Given the description of an element on the screen output the (x, y) to click on. 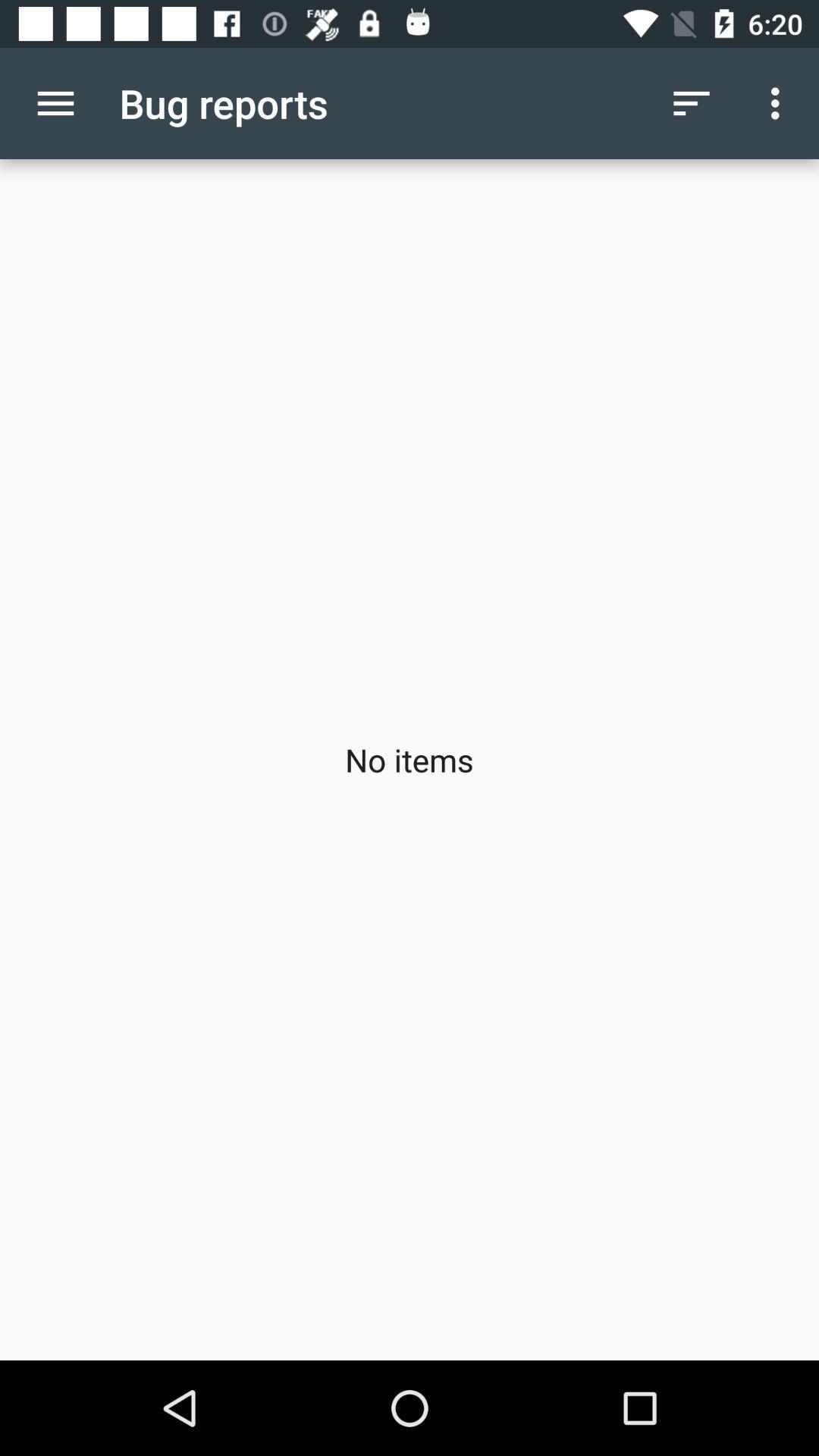
press the app next to bug reports icon (55, 103)
